Given the description of an element on the screen output the (x, y) to click on. 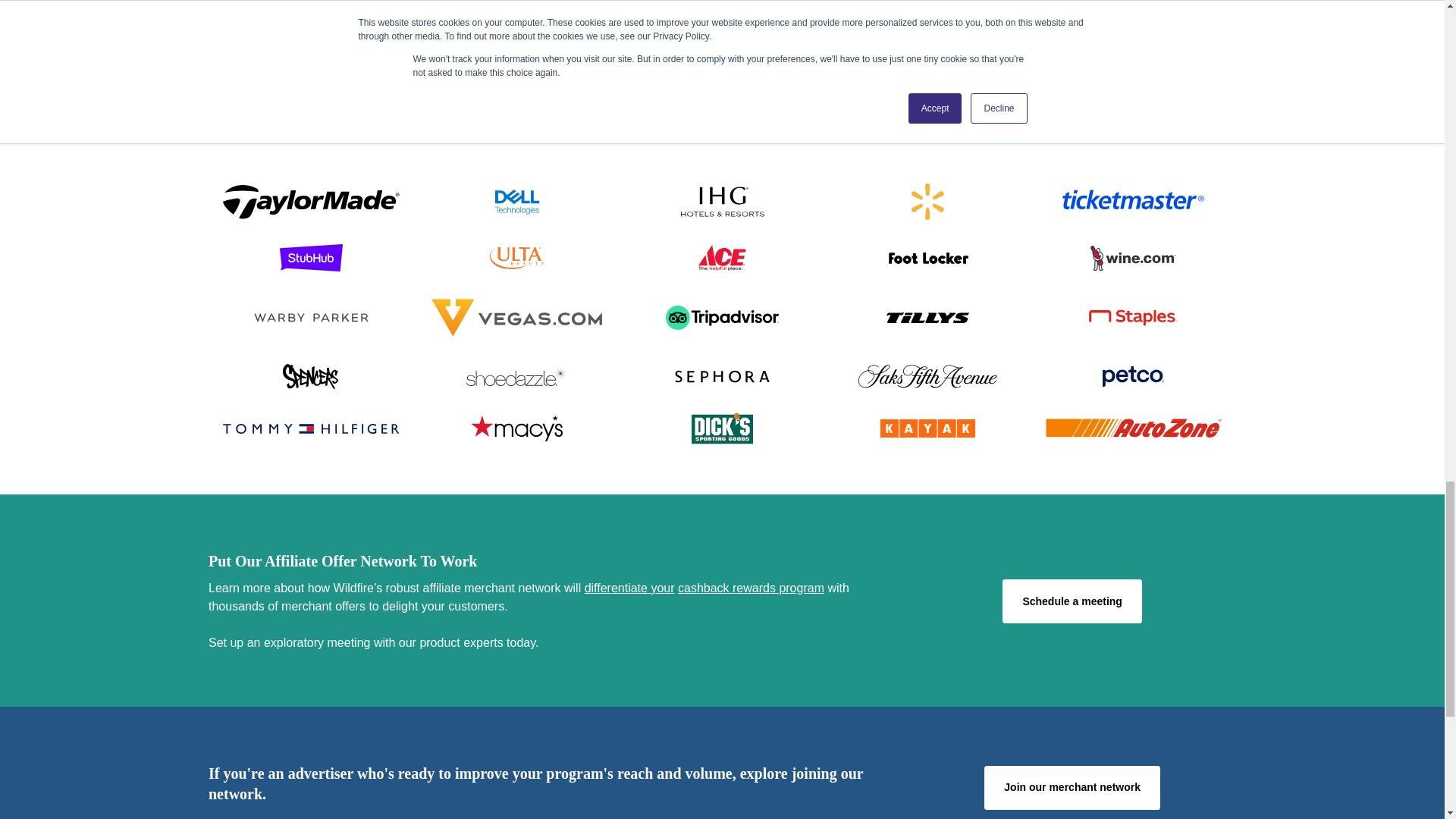
Schedule a meeting (1072, 601)
Join our merchant network (1072, 787)
